Given the description of an element on the screen output the (x, y) to click on. 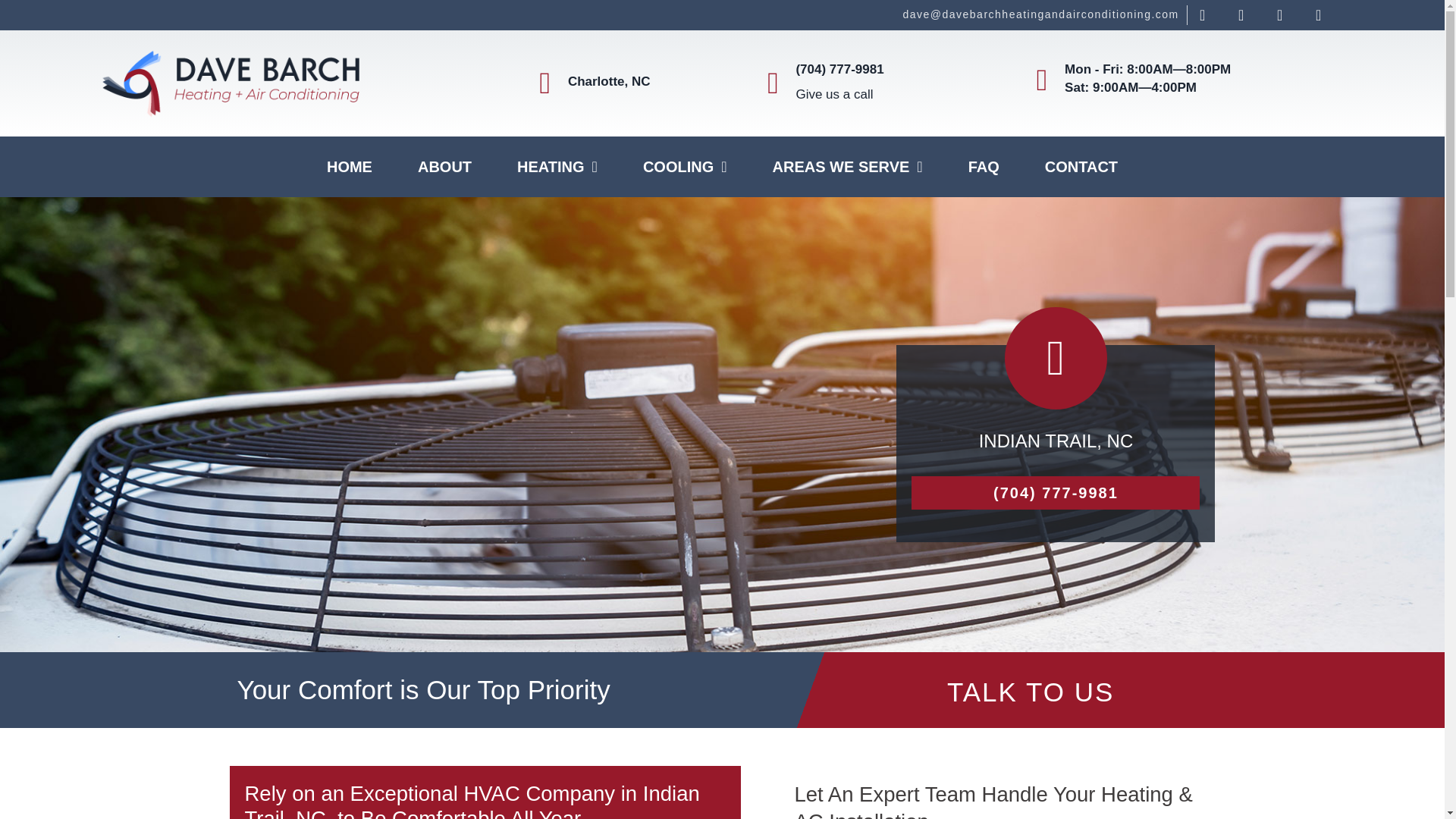
COOLING (684, 166)
FAQ (983, 166)
AREAS WE SERVE (846, 166)
HEATING (557, 166)
ABOUT (444, 166)
HOME (349, 166)
CONTACT (1081, 166)
Charlotte, NC (608, 81)
